Given the description of an element on the screen output the (x, y) to click on. 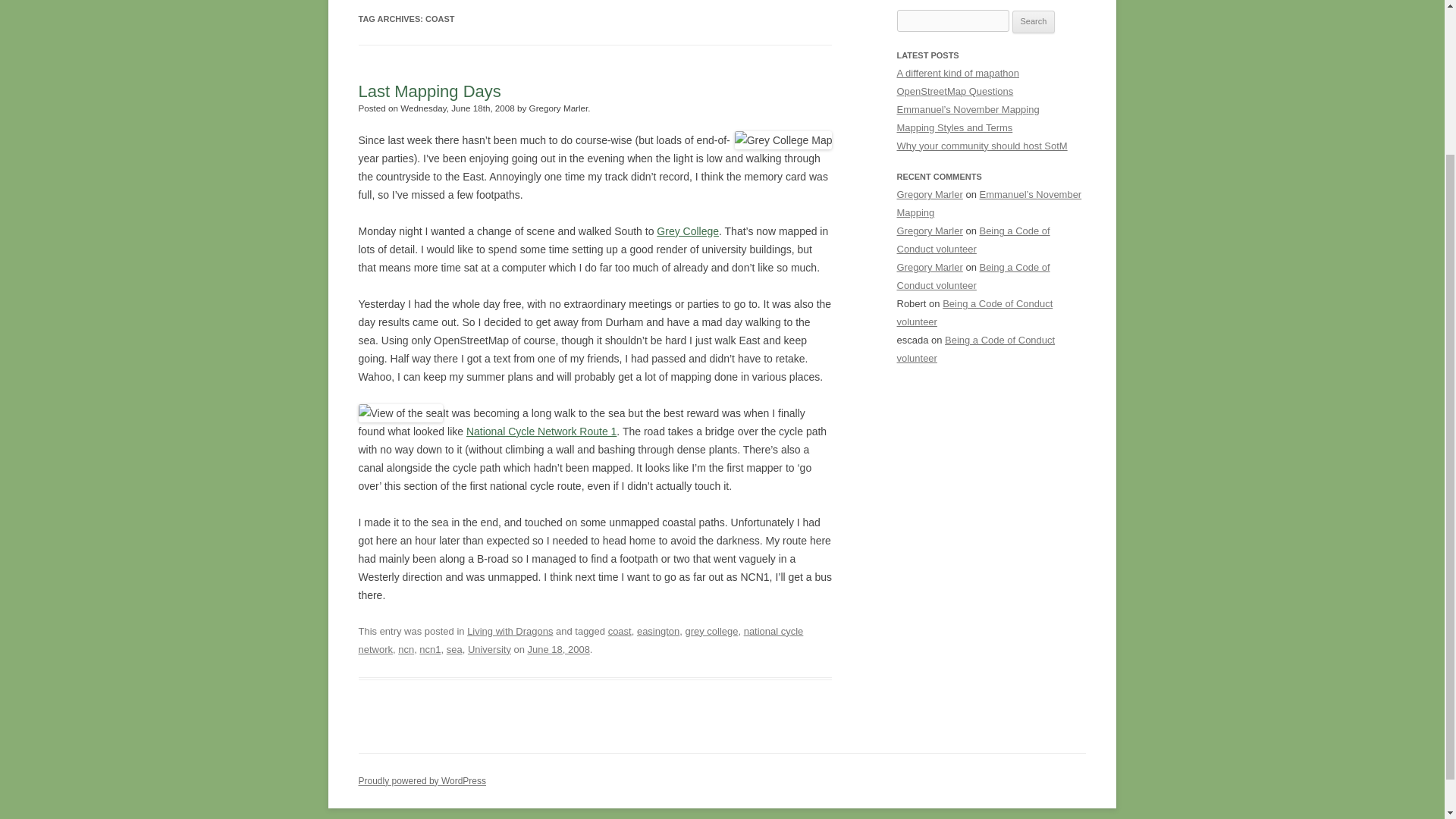
coast (619, 631)
Proudly powered by WordPress (422, 780)
Gregory Marler (929, 266)
easington (658, 631)
A different kind of mapathon (956, 72)
Being a Code of Conduct volunteer (974, 312)
Gregory Marler (929, 194)
Living with Dragons (510, 631)
Grey College (687, 231)
Last Mapping Days (429, 90)
Search (1033, 21)
Permalink to Last Mapping Days (429, 90)
ncn (405, 649)
Being a Code of Conduct volunteer (972, 239)
national cycle network (580, 640)
